Given the description of an element on the screen output the (x, y) to click on. 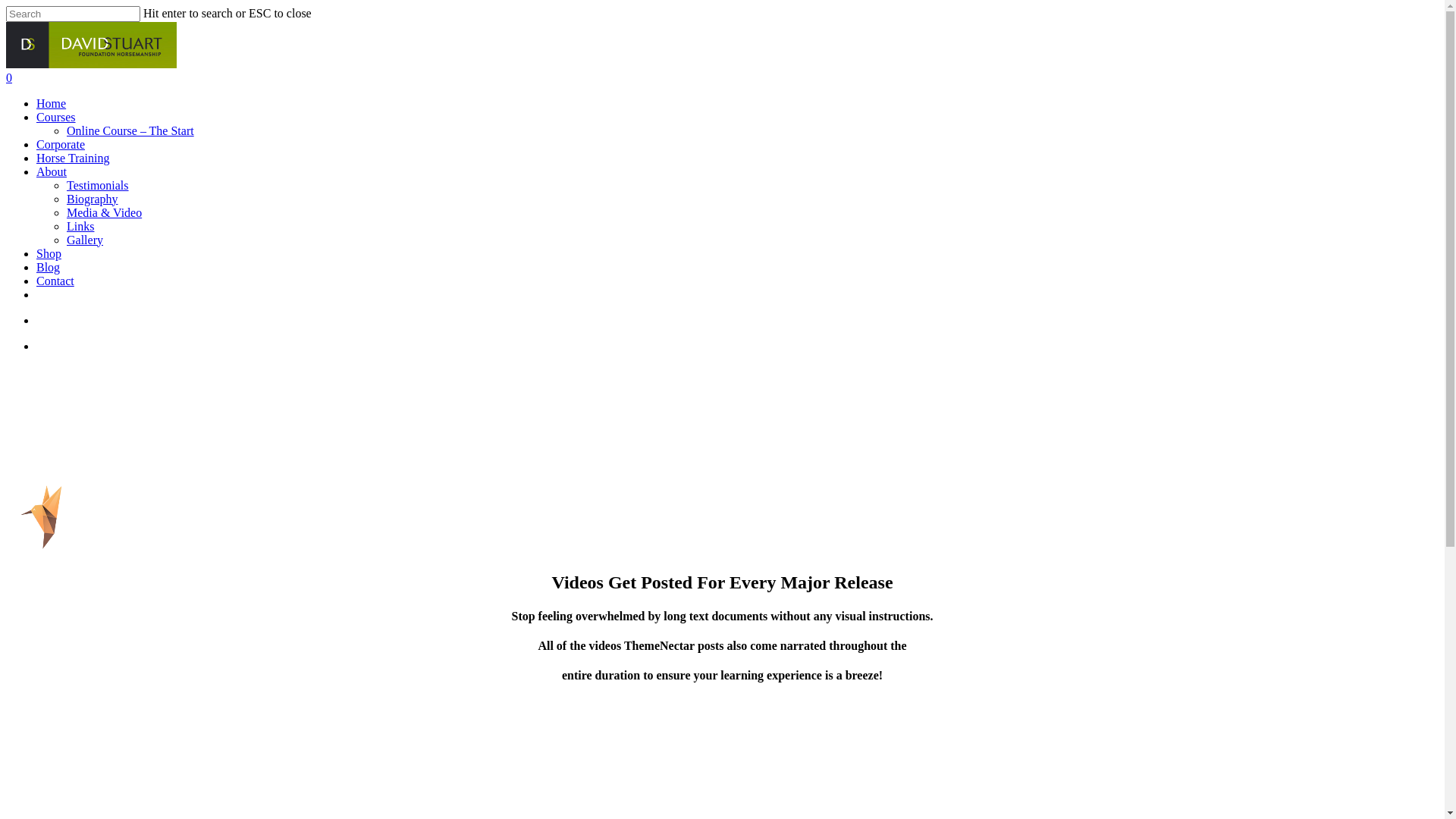
Biography Element type: text (92, 198)
Home Element type: text (50, 103)
0 Element type: text (722, 77)
Horse Training Element type: text (72, 157)
Skip to main content Element type: text (5, 5)
About Element type: text (51, 171)
Gallery Element type: text (84, 239)
Media & Video Element type: text (103, 212)
Shop Element type: text (48, 253)
Links Element type: text (80, 225)
Blog Element type: text (47, 266)
Testimonials Element type: text (97, 184)
Contact Element type: text (55, 280)
Corporate Element type: text (60, 144)
Courses Element type: text (55, 116)
